Given the description of an element on the screen output the (x, y) to click on. 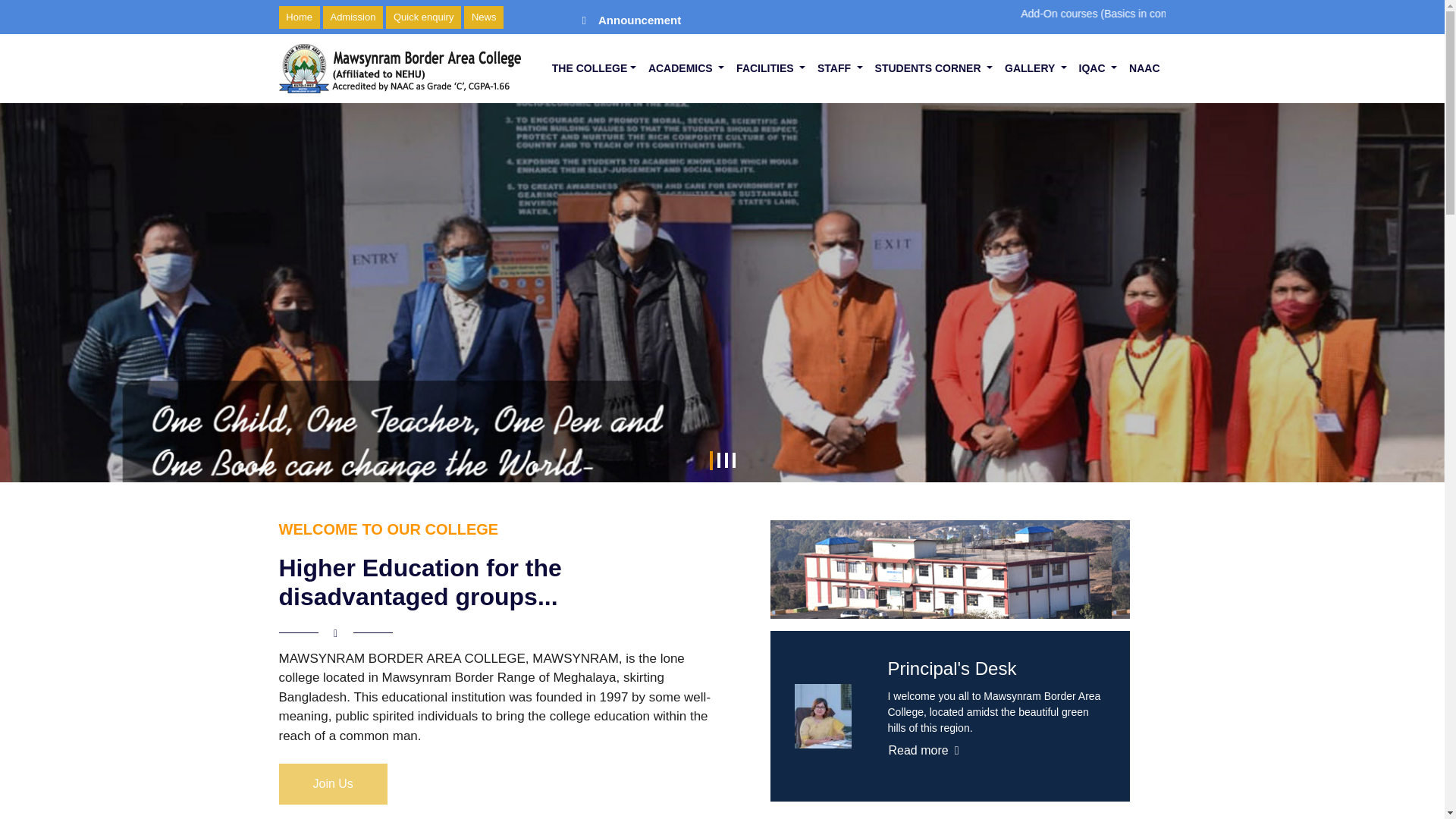
News (483, 16)
Quick enquiry (423, 16)
Home (299, 16)
THE COLLEGE (594, 68)
Admission (353, 16)
ACADEMICS (686, 68)
FACILITIES (770, 68)
STUDENTS CORNER (933, 68)
STAFF (839, 68)
